Given the description of an element on the screen output the (x, y) to click on. 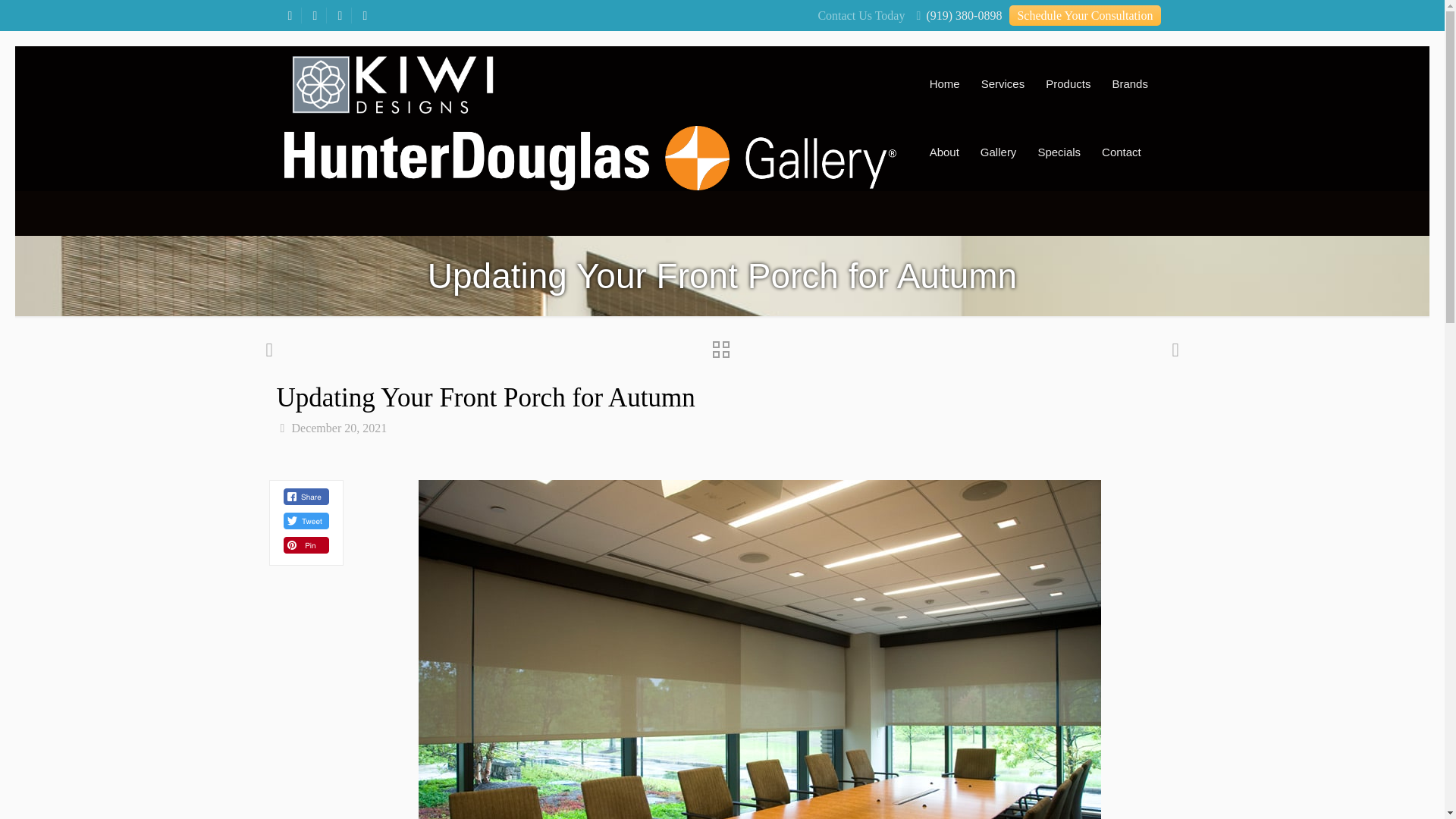
Specials (1058, 151)
Kiwi Designs (589, 83)
Services (1003, 83)
Schedule Your Consultation (1084, 14)
Products (1067, 83)
